Given the description of an element on the screen output the (x, y) to click on. 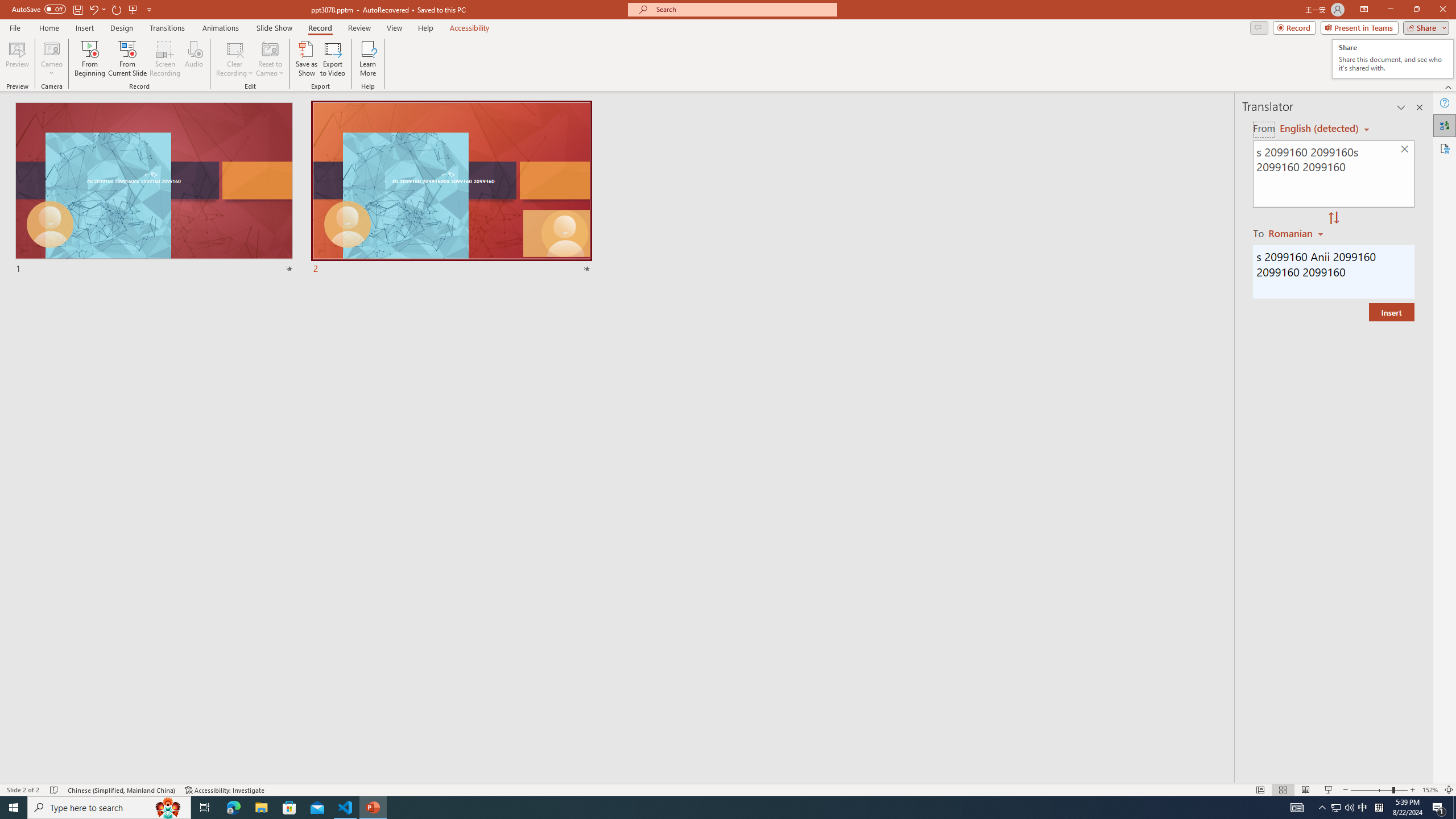
Page 1 content (719, 416)
